Given the description of an element on the screen output the (x, y) to click on. 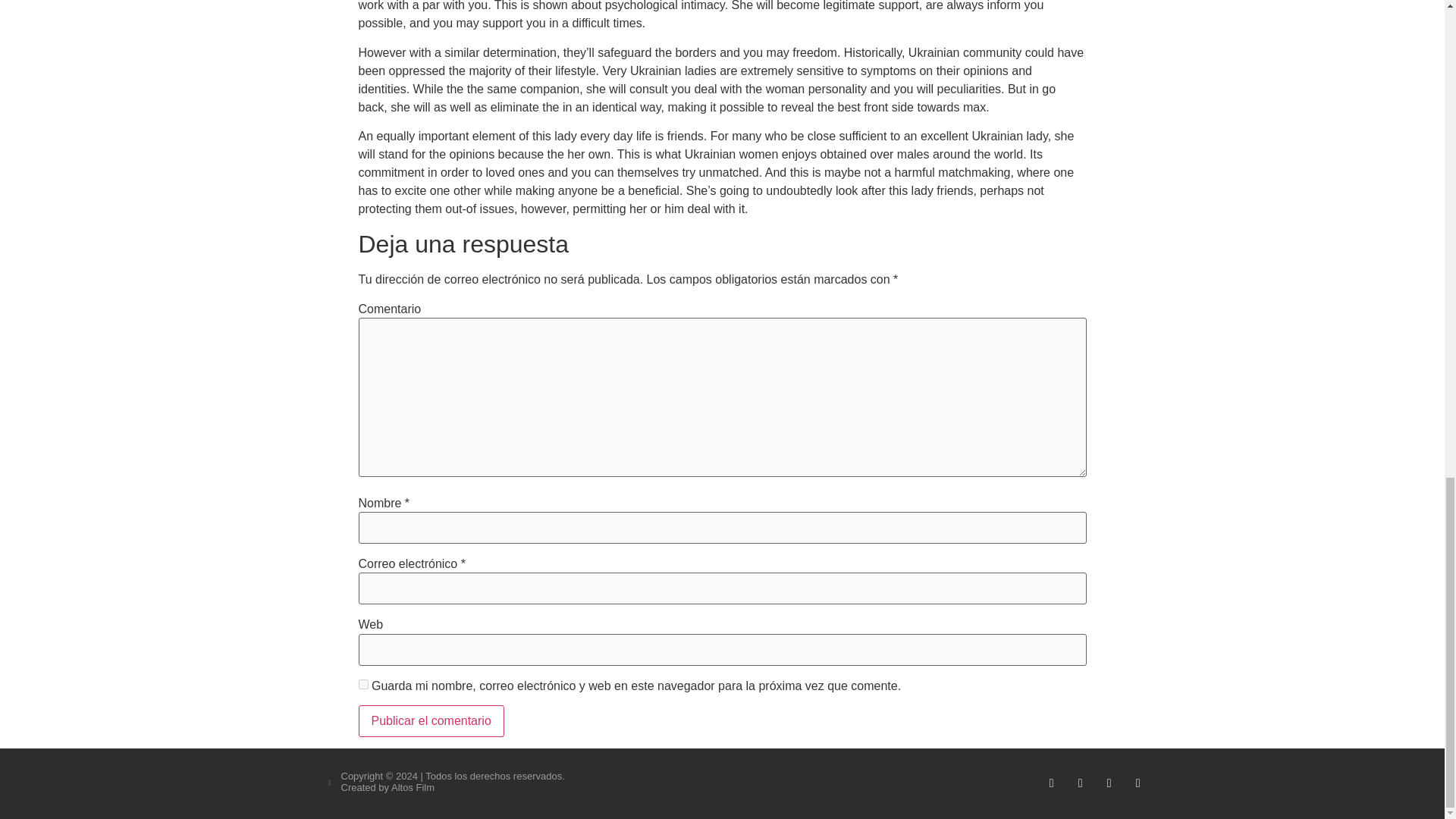
yes (363, 684)
Created by Altos Film (387, 787)
Publicar el comentario (430, 721)
Publicar el comentario (430, 721)
